Given the description of an element on the screen output the (x, y) to click on. 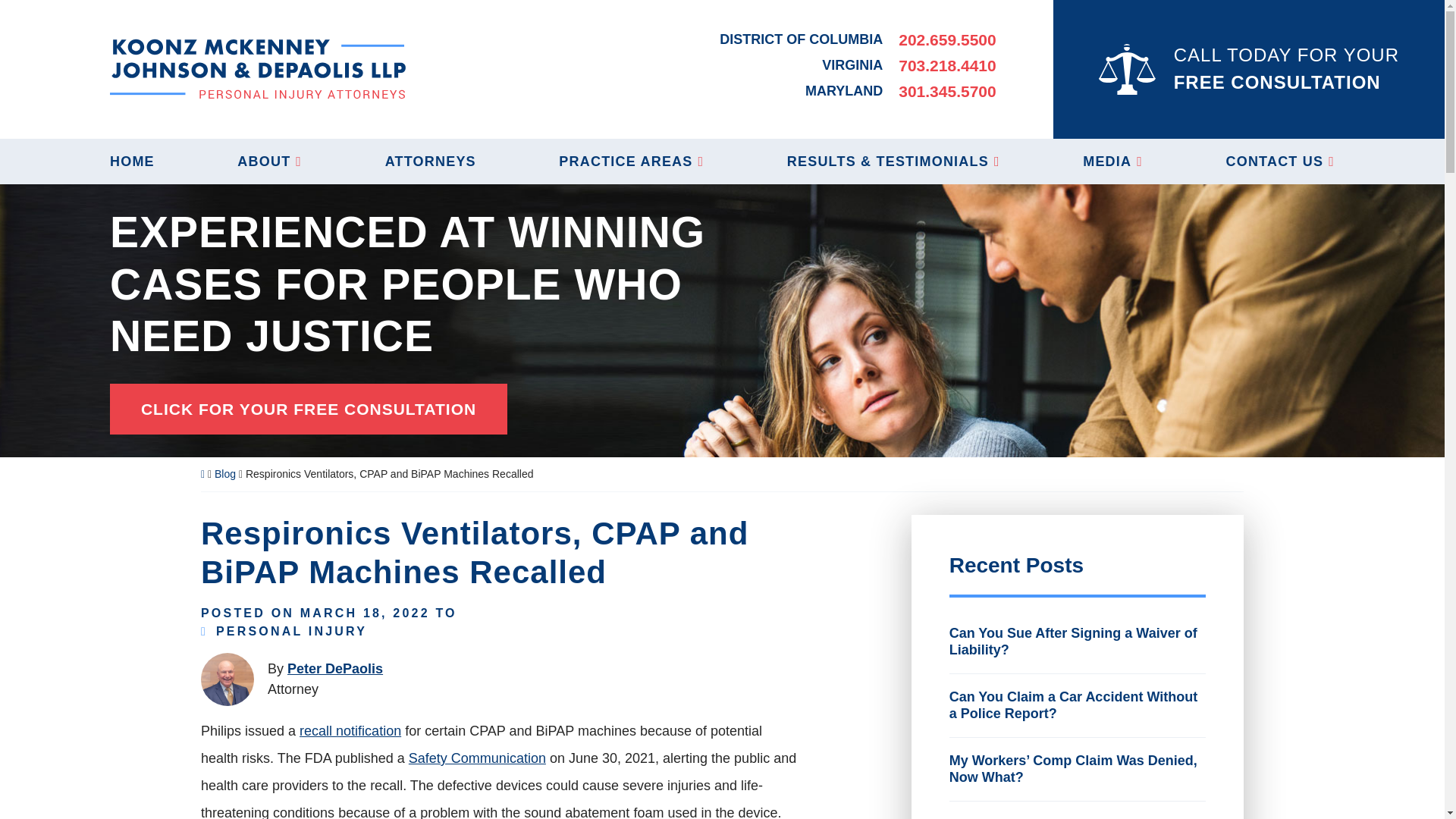
Blog (224, 473)
CLICK FOR YOUR FREE CONSULTATION (308, 409)
MEDIA (1113, 161)
PRACTICE AREAS (631, 161)
Peter DePaolis (334, 668)
ABOUT (269, 161)
recall notification (350, 730)
HOME (132, 161)
202.659.5500 (946, 39)
301.345.5700 (946, 90)
